Given the description of an element on the screen output the (x, y) to click on. 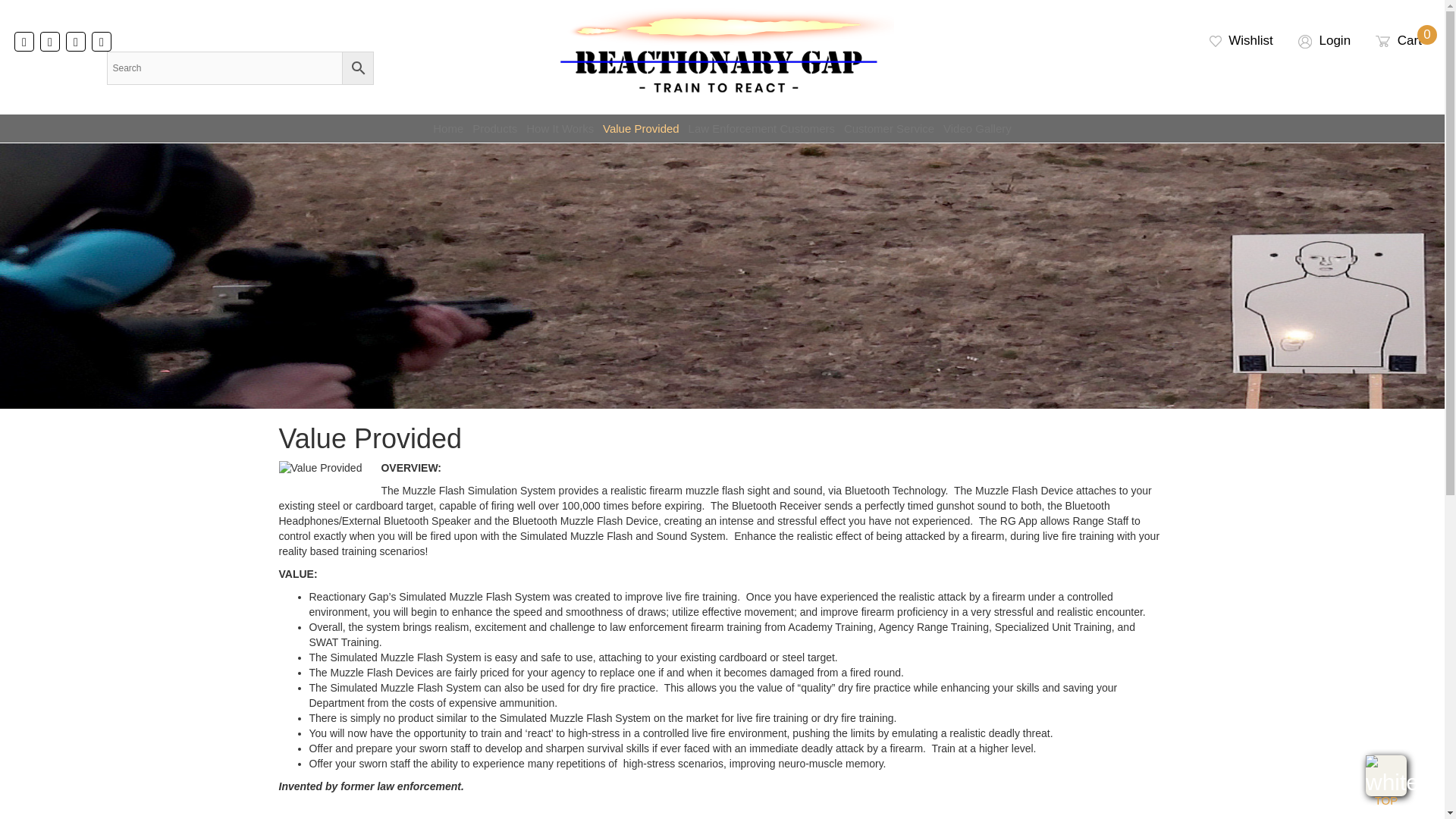
Value Provided (640, 128)
Video Gallery (977, 128)
How It Works (559, 128)
Law Enforcement Customers (761, 128)
Wishlist (1398, 40)
Login (1240, 40)
Products (1324, 40)
Home (493, 128)
Customer Service (447, 128)
